Given the description of an element on the screen output the (x, y) to click on. 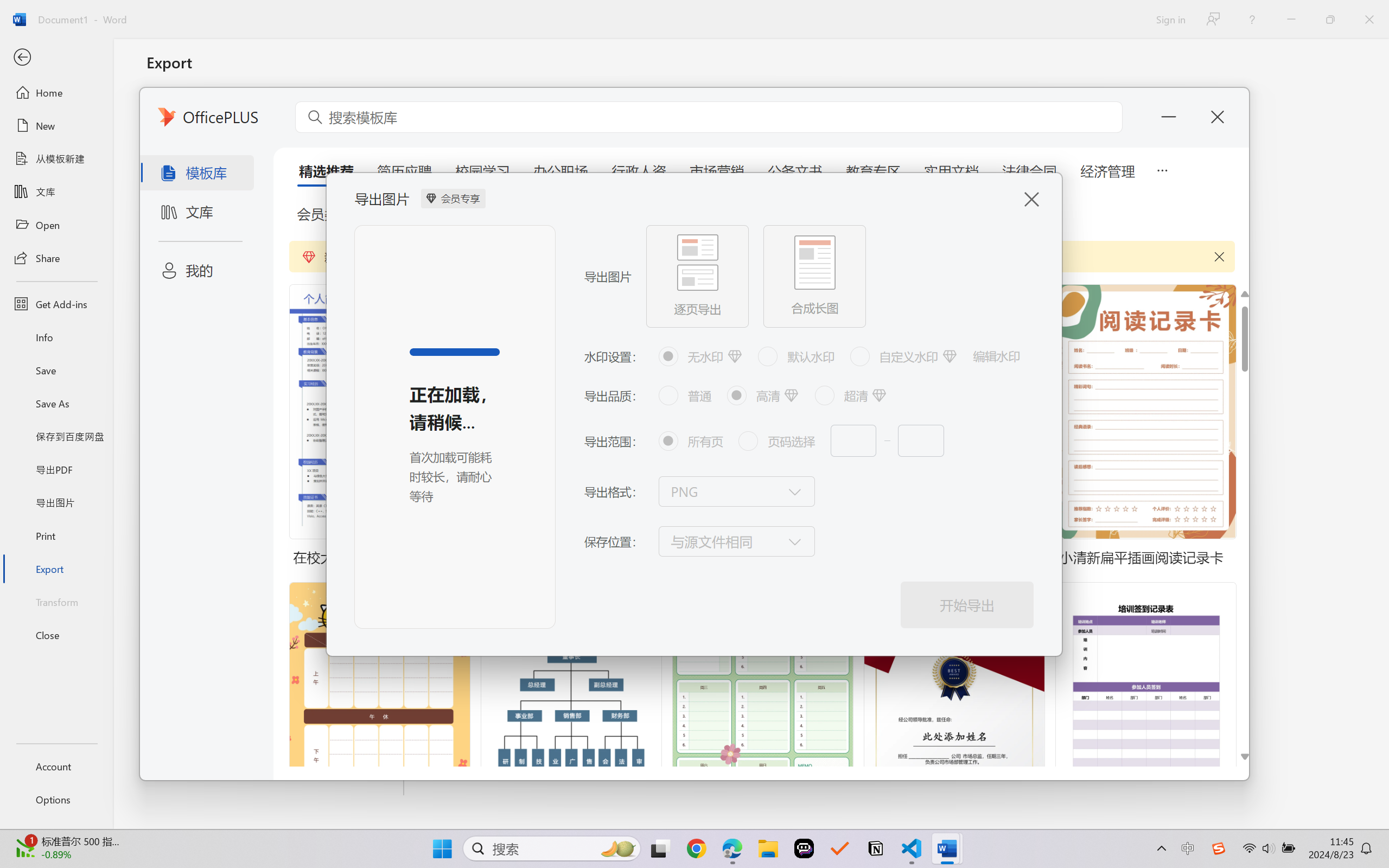
Export (56, 568)
New (56, 125)
Back (56, 57)
